Given the description of an element on the screen output the (x, y) to click on. 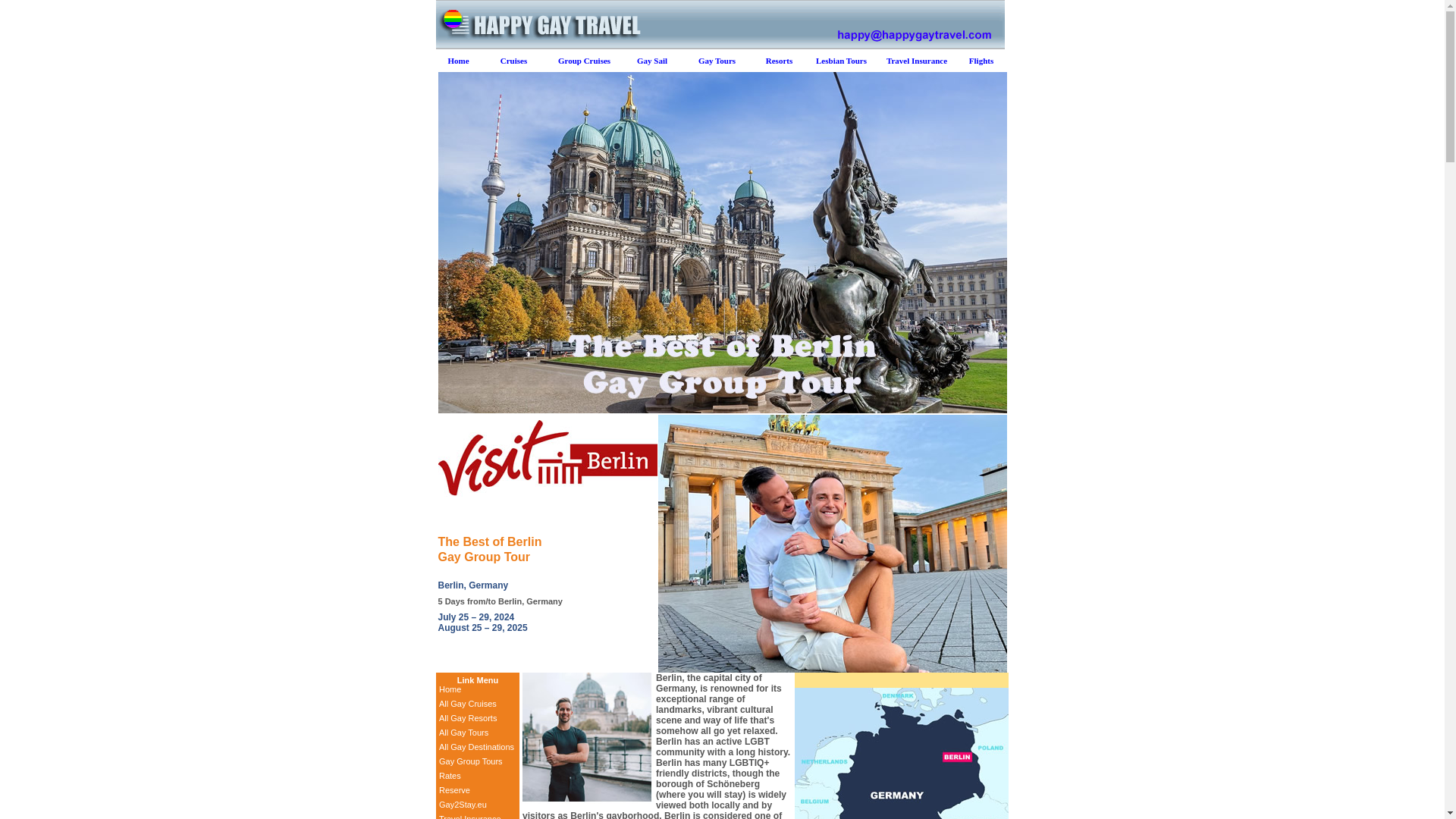
Reserve (454, 789)
All Gay Cruises (467, 703)
Gay Cruises (513, 60)
Gay Group Tours (470, 760)
All Gay Destinations (476, 746)
Happy Gay Travel (457, 60)
Gay Resorts (778, 60)
Home (450, 688)
Group Cruises (583, 60)
Travel Insurance (469, 816)
Flights (980, 60)
Gay Tours (716, 60)
Gay Sail (651, 60)
Cruises (513, 60)
Out Come Out tour reservation (454, 789)
